Given the description of an element on the screen output the (x, y) to click on. 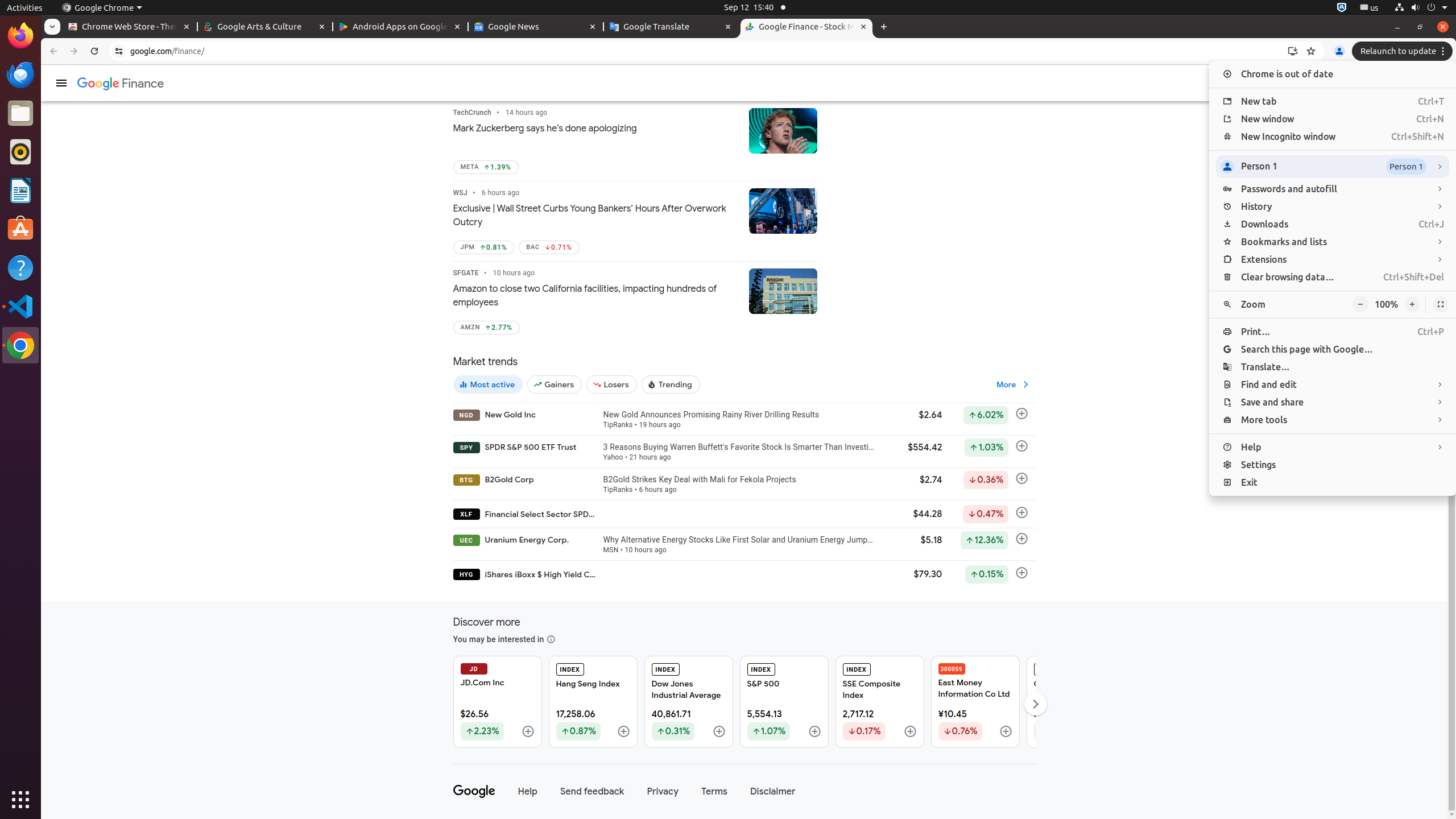
Settings Element type: menu-item (1332, 464)
More tools Element type: menu-item (1332, 419)
Person 1 Element type: menu-item (1332, 166)
Thunderbird Mail Element type: push-button (20, 74)
Passwords and autofill Element type: menu-item (1332, 188)
